Given the description of an element on the screen output the (x, y) to click on. 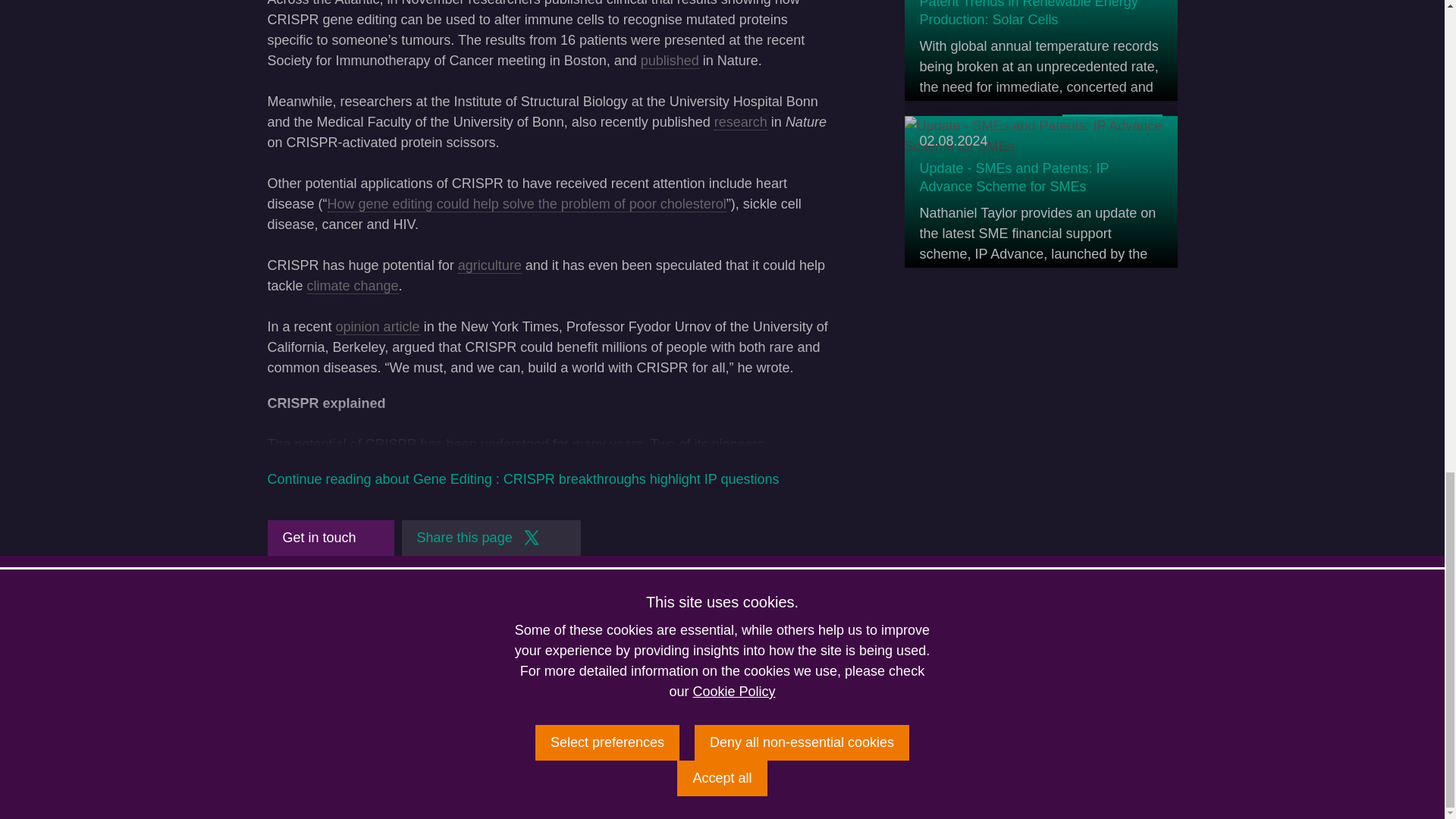
research (740, 122)
published (669, 60)
